Given the description of an element on the screen output the (x, y) to click on. 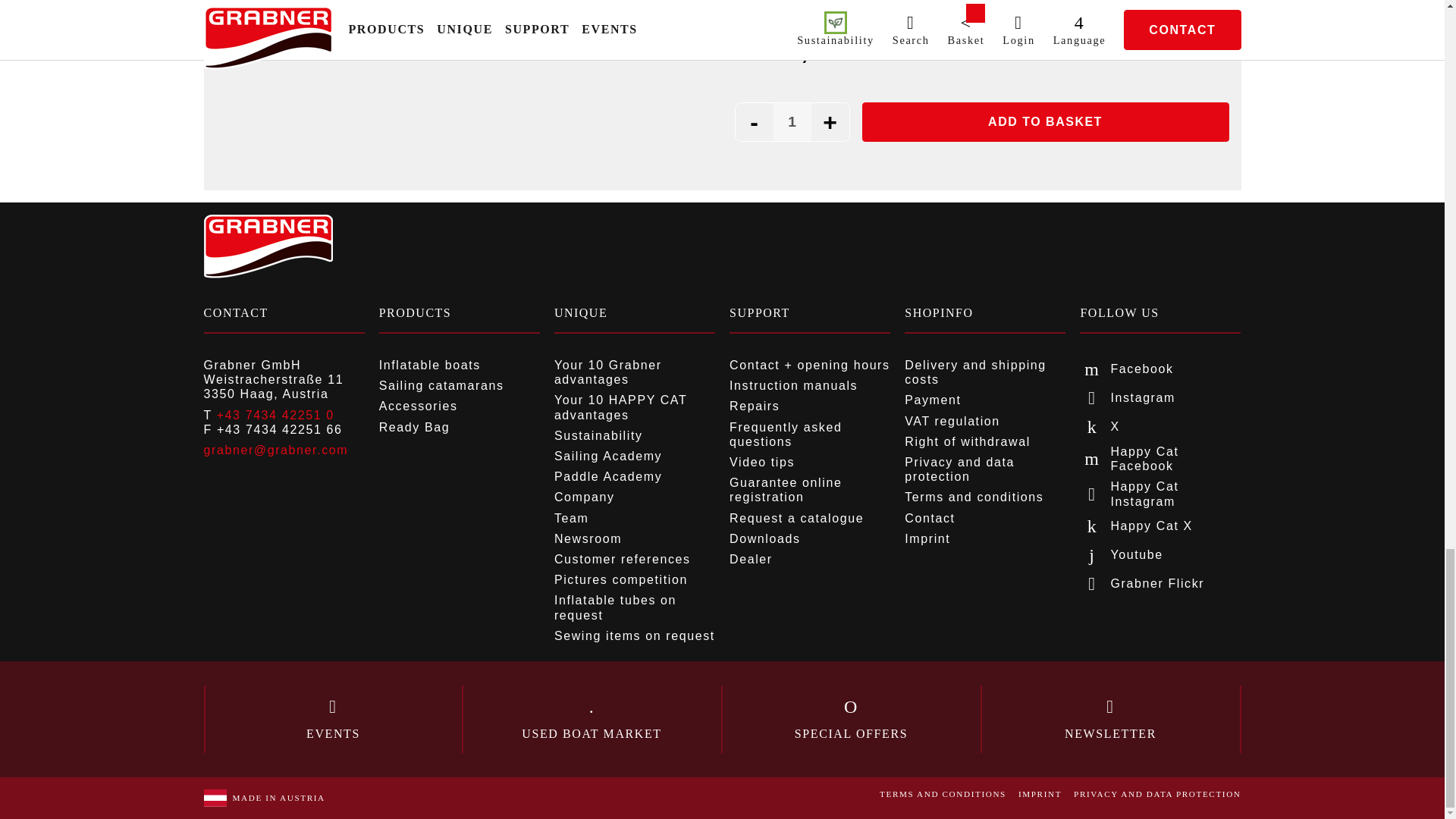
1 (791, 121)
